Given the description of an element on the screen output the (x, y) to click on. 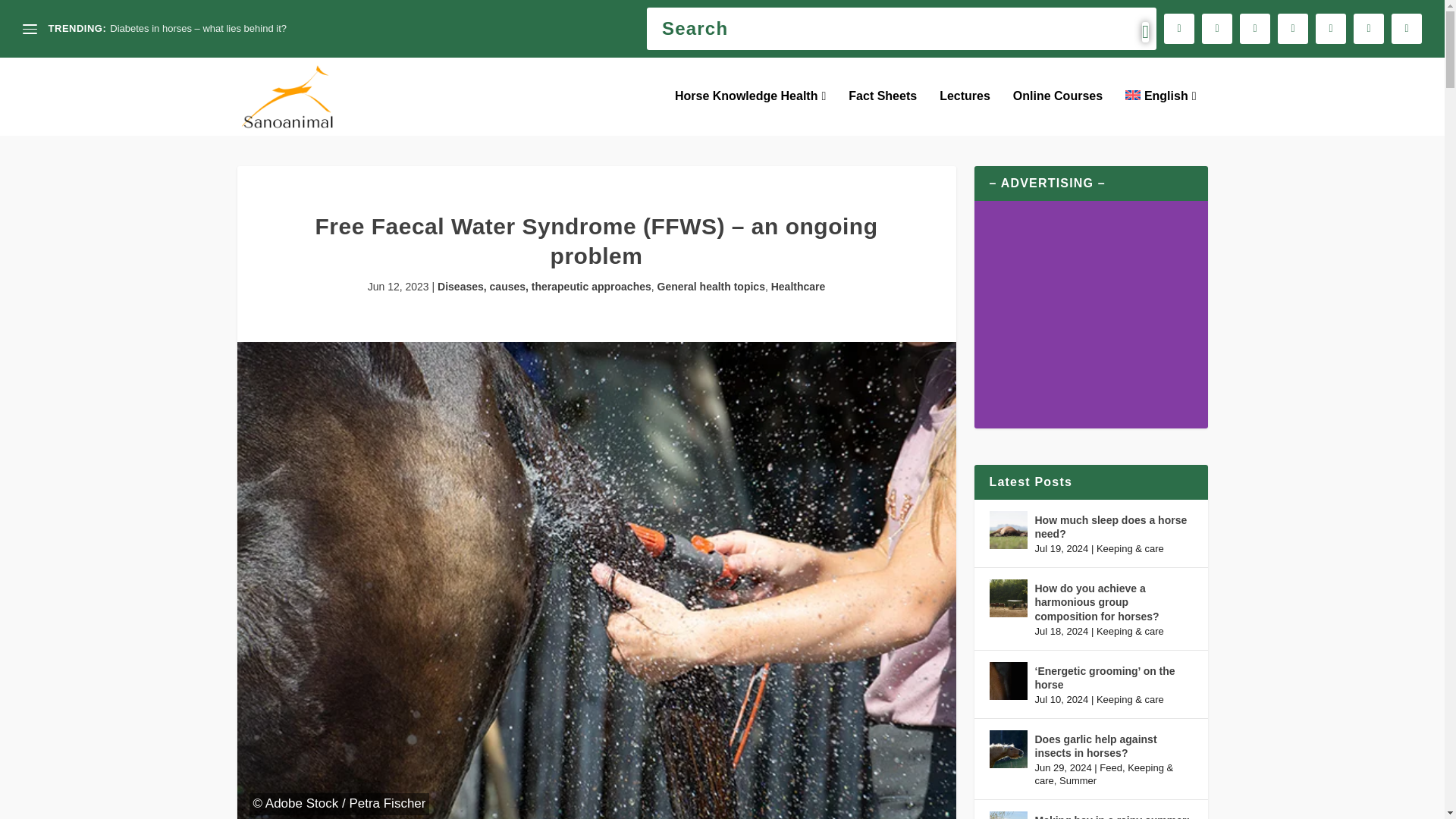
English (1160, 112)
Lectures (964, 112)
Online Courses (1057, 112)
Search for: (901, 28)
Horse Knowledge Health (750, 112)
English (1160, 112)
Fact Sheets (882, 112)
